Given the description of an element on the screen output the (x, y) to click on. 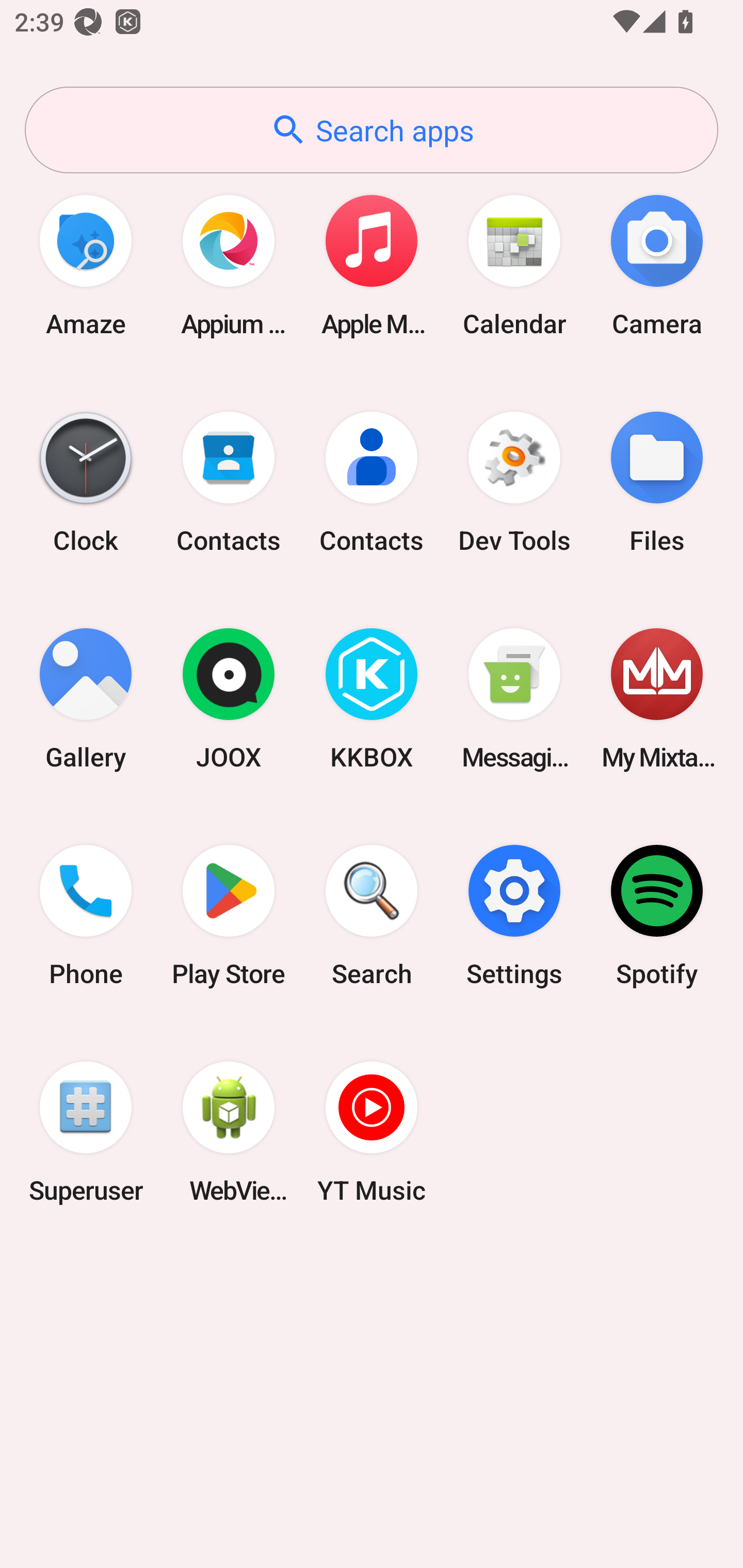
  Search apps (371, 130)
Amaze (85, 264)
Appium Settings (228, 264)
Apple Music (371, 264)
Calendar (514, 264)
Camera (656, 264)
Clock (85, 482)
Contacts (228, 482)
Contacts (371, 482)
Dev Tools (514, 482)
Files (656, 482)
Gallery (85, 699)
JOOX (228, 699)
KKBOX (371, 699)
Messaging (514, 699)
My Mixtapez (656, 699)
Phone (85, 915)
Play Store (228, 915)
Search (371, 915)
Settings (514, 915)
Spotify (656, 915)
Superuser (85, 1131)
WebView Browser Tester (228, 1131)
YT Music (371, 1131)
